Given the description of an element on the screen output the (x, y) to click on. 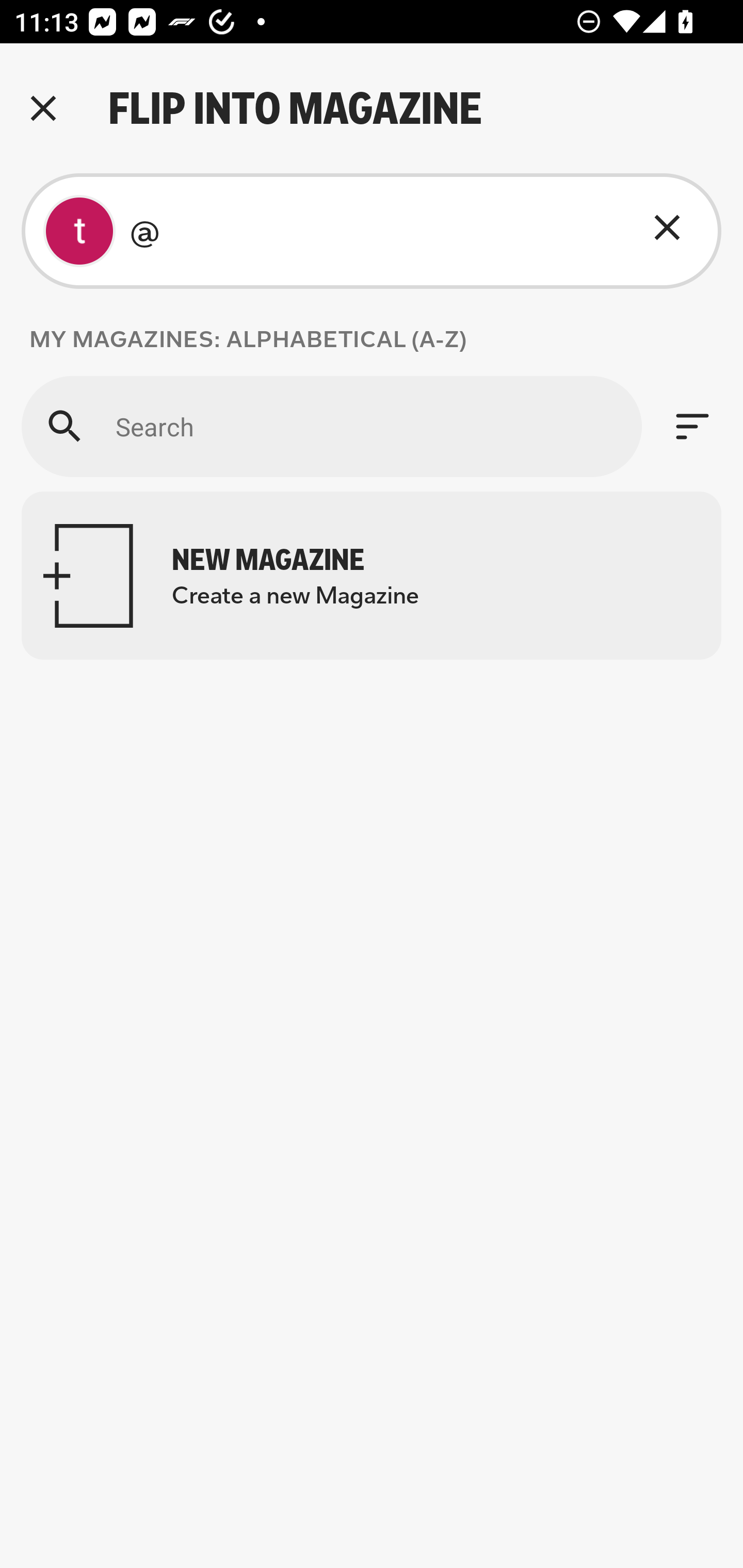
test appium @ (371, 231)
Search (331, 426)
NEW MAGAZINE Create a new Magazine (371, 575)
